Given the description of an element on the screen output the (x, y) to click on. 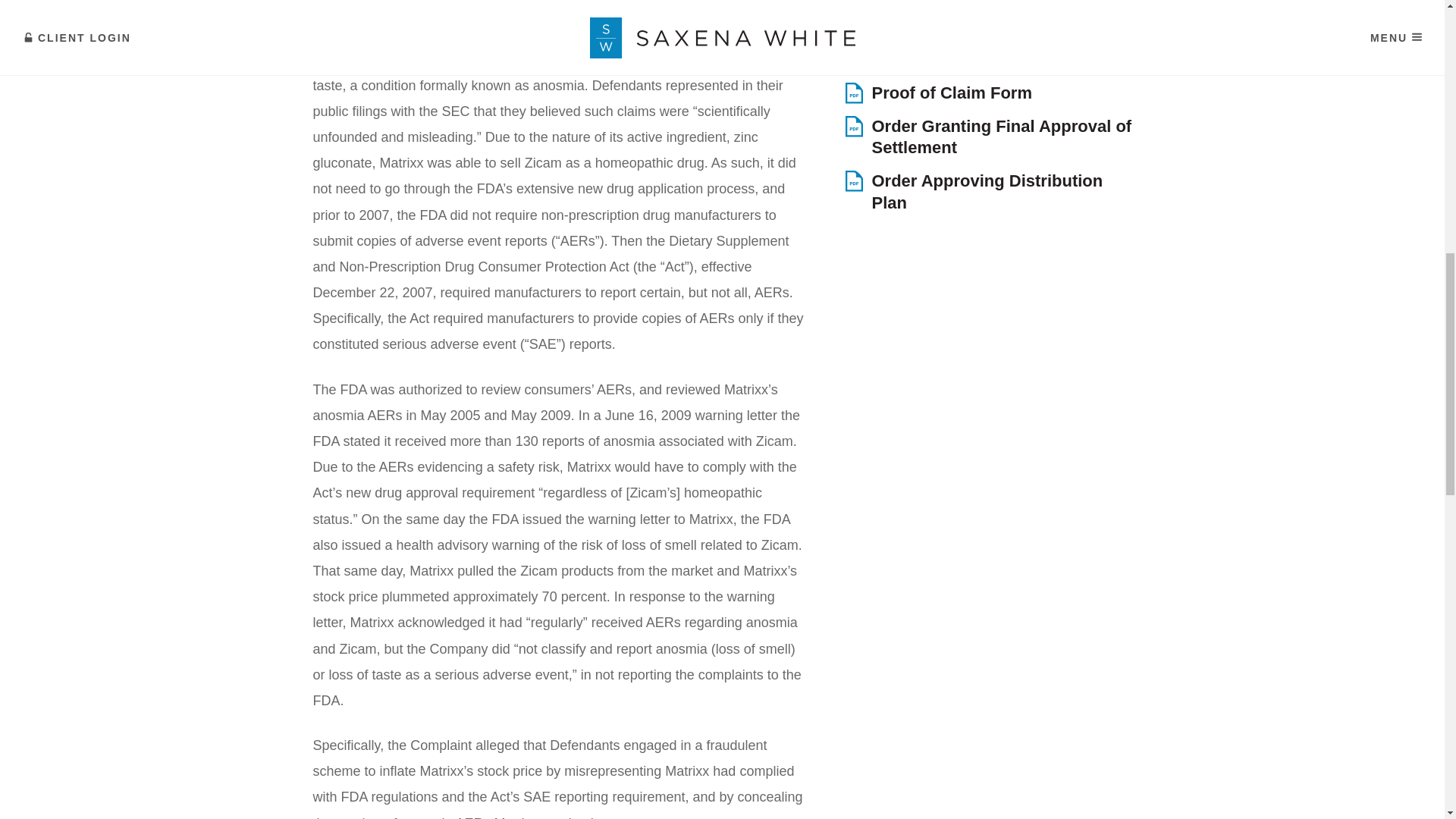
Proof of Claim Form (987, 93)
Order Approving Distribution Plan (987, 191)
Notice of Settlement (987, 60)
Order Preliminarily Approving Settlement (987, 18)
Order Granting Final Approval of Settlement (987, 137)
